Given the description of an element on the screen output the (x, y) to click on. 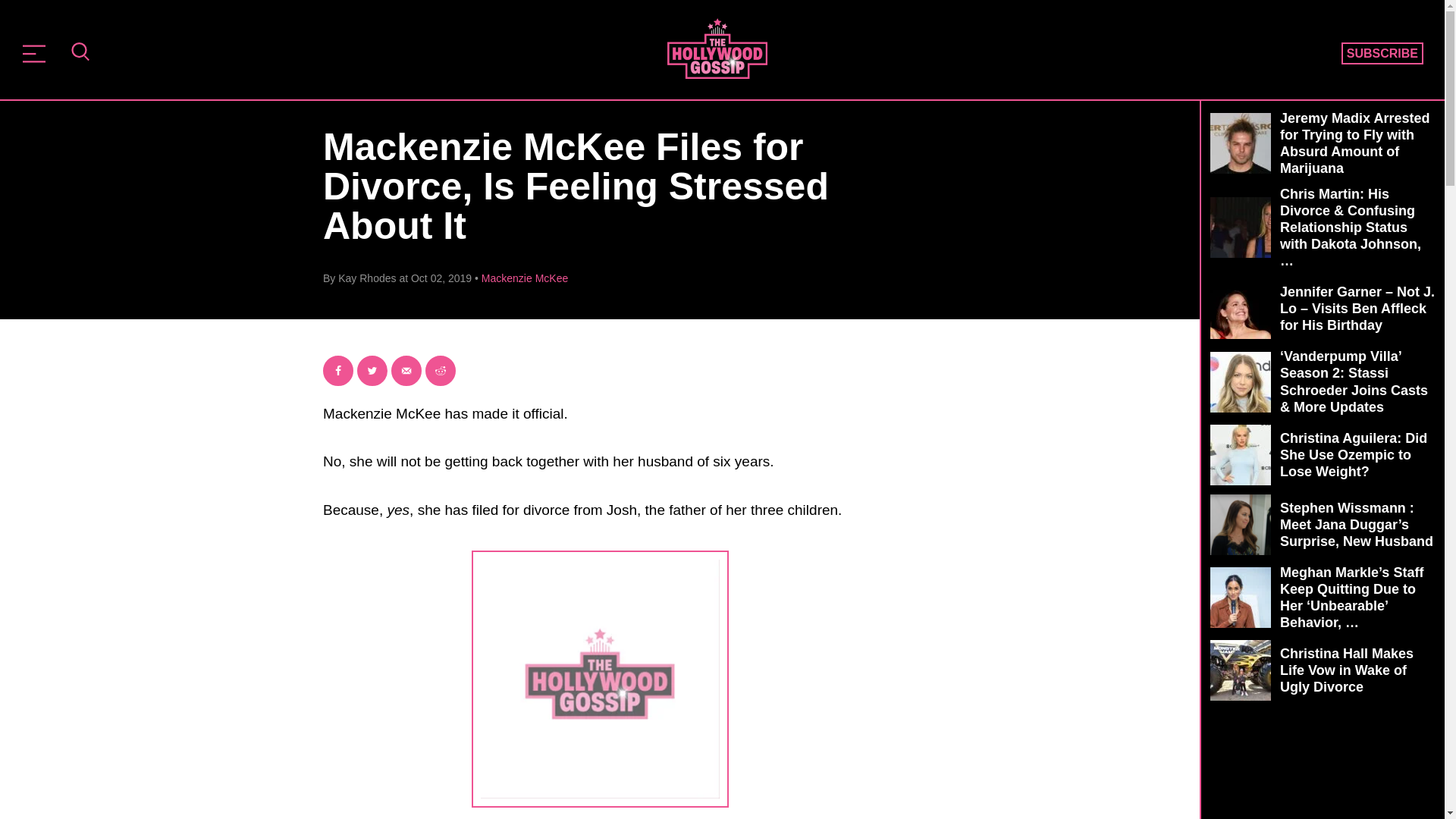
Share on Reddit (440, 370)
Share on Facebook (338, 370)
Share on Twitter (371, 370)
Mackenzie McKee (524, 277)
The Hollywood Gossip (716, 48)
Kay Rhodes (366, 277)
SUBSCRIBE (1381, 53)
Send over email (406, 370)
SEARCH (79, 53)
